Given the description of an element on the screen output the (x, y) to click on. 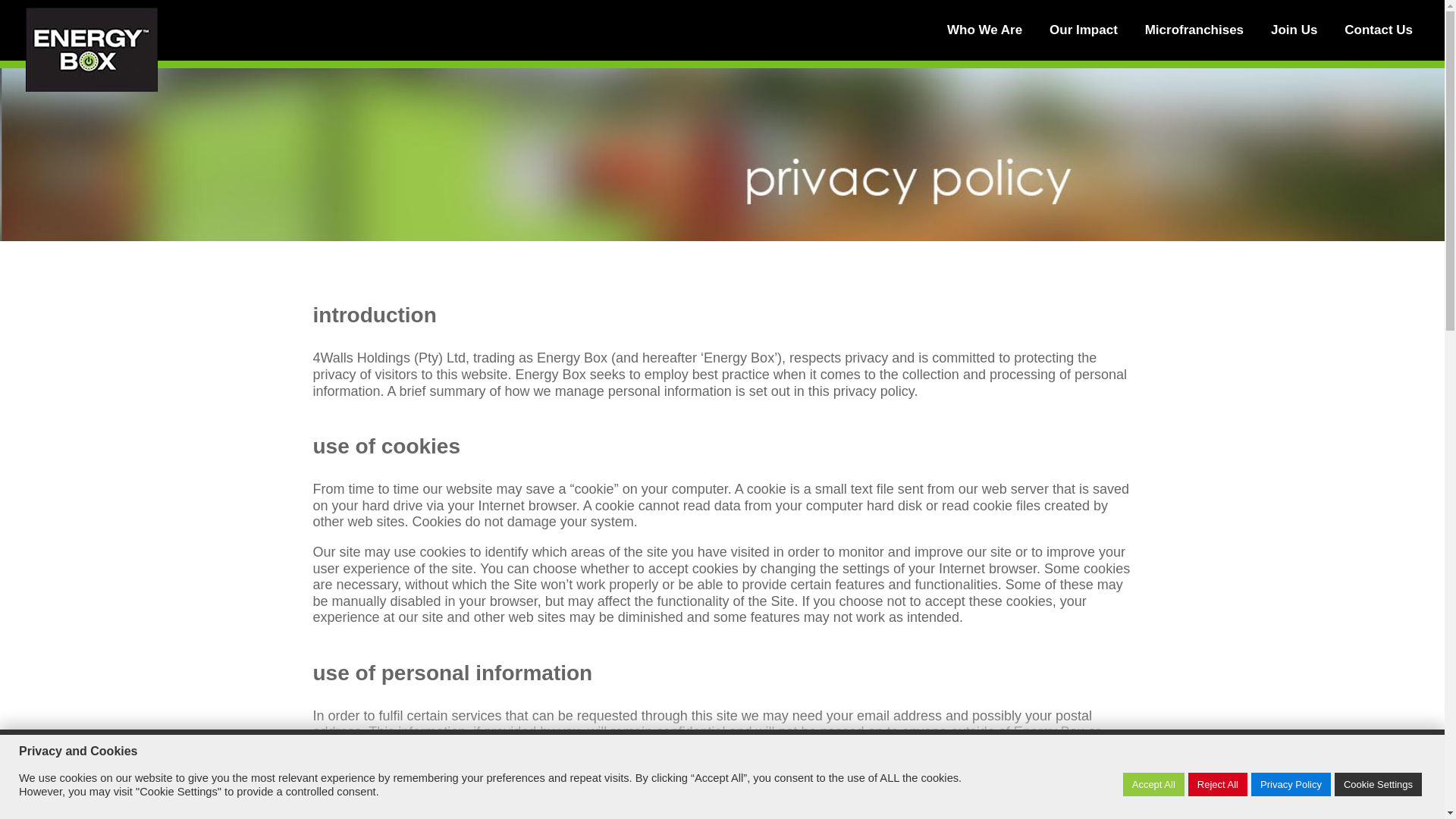
Reject All (1217, 784)
Accept All (1153, 784)
Our Impact (1087, 42)
Join Us (1297, 42)
Contact Us (1382, 42)
Privacy Policy (1290, 784)
Cookie Settings (1378, 784)
Who We Are (988, 42)
Microfranchises (1197, 42)
